Given the description of an element on the screen output the (x, y) to click on. 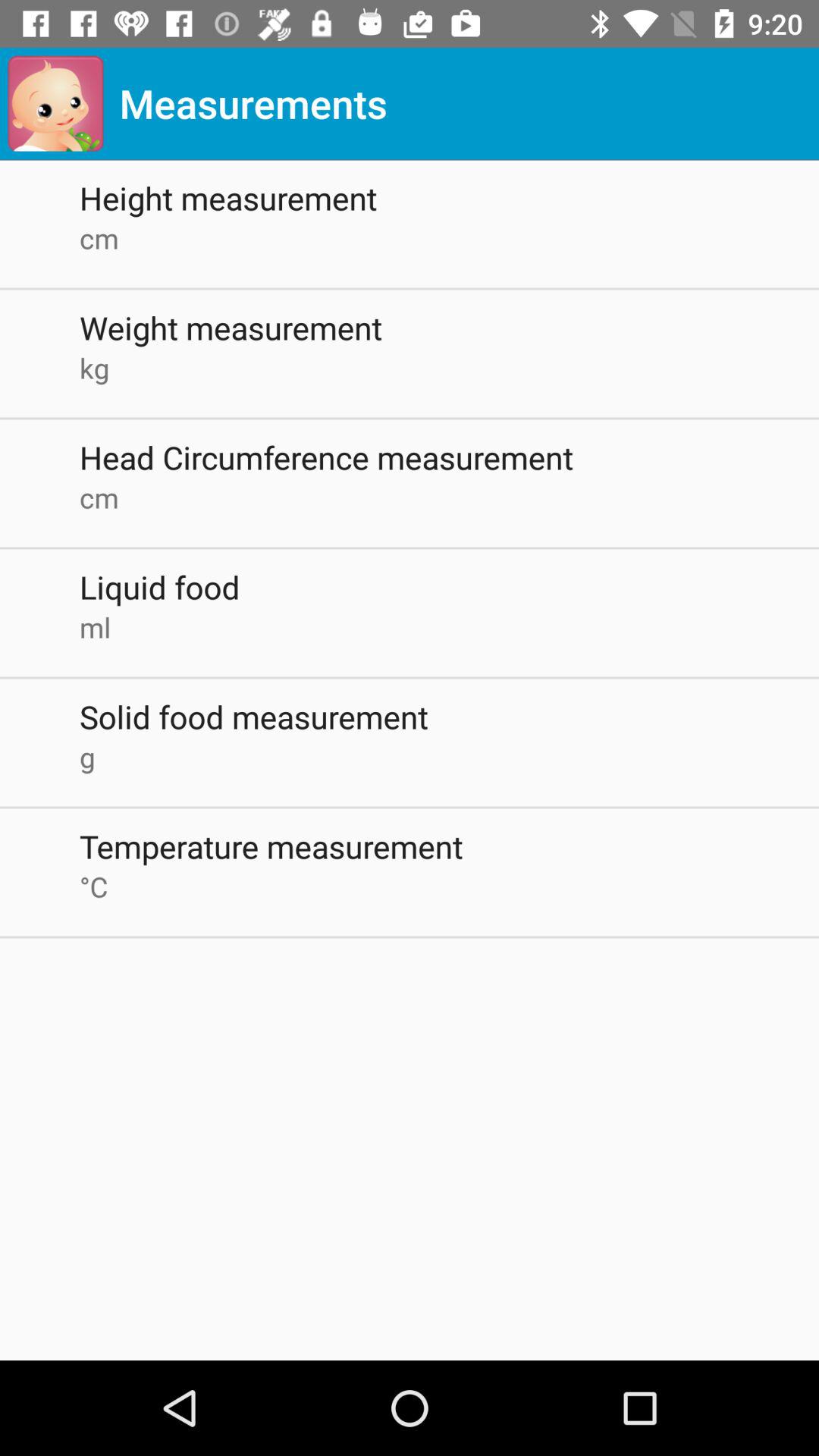
turn on icon above the ml (449, 586)
